Given the description of an element on the screen output the (x, y) to click on. 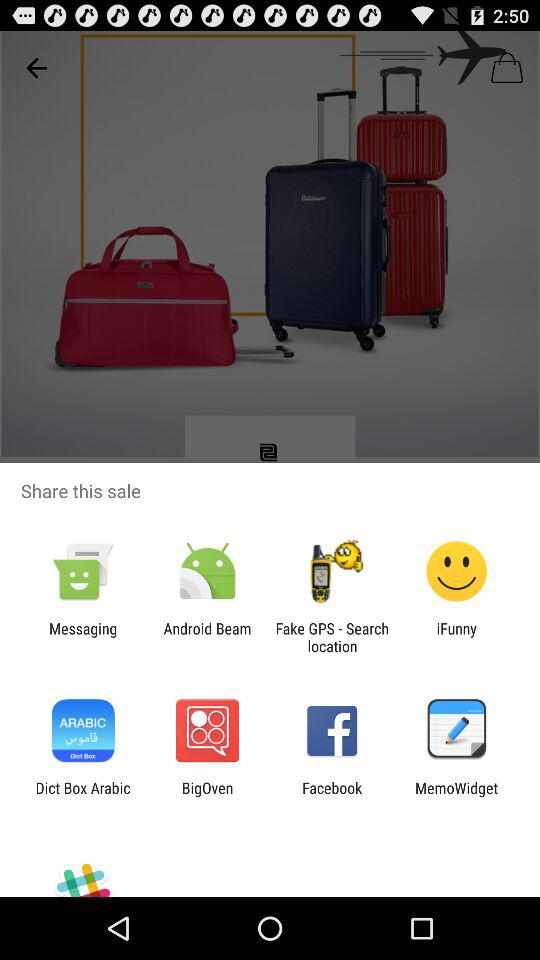
flip to android beam (207, 637)
